Given the description of an element on the screen output the (x, y) to click on. 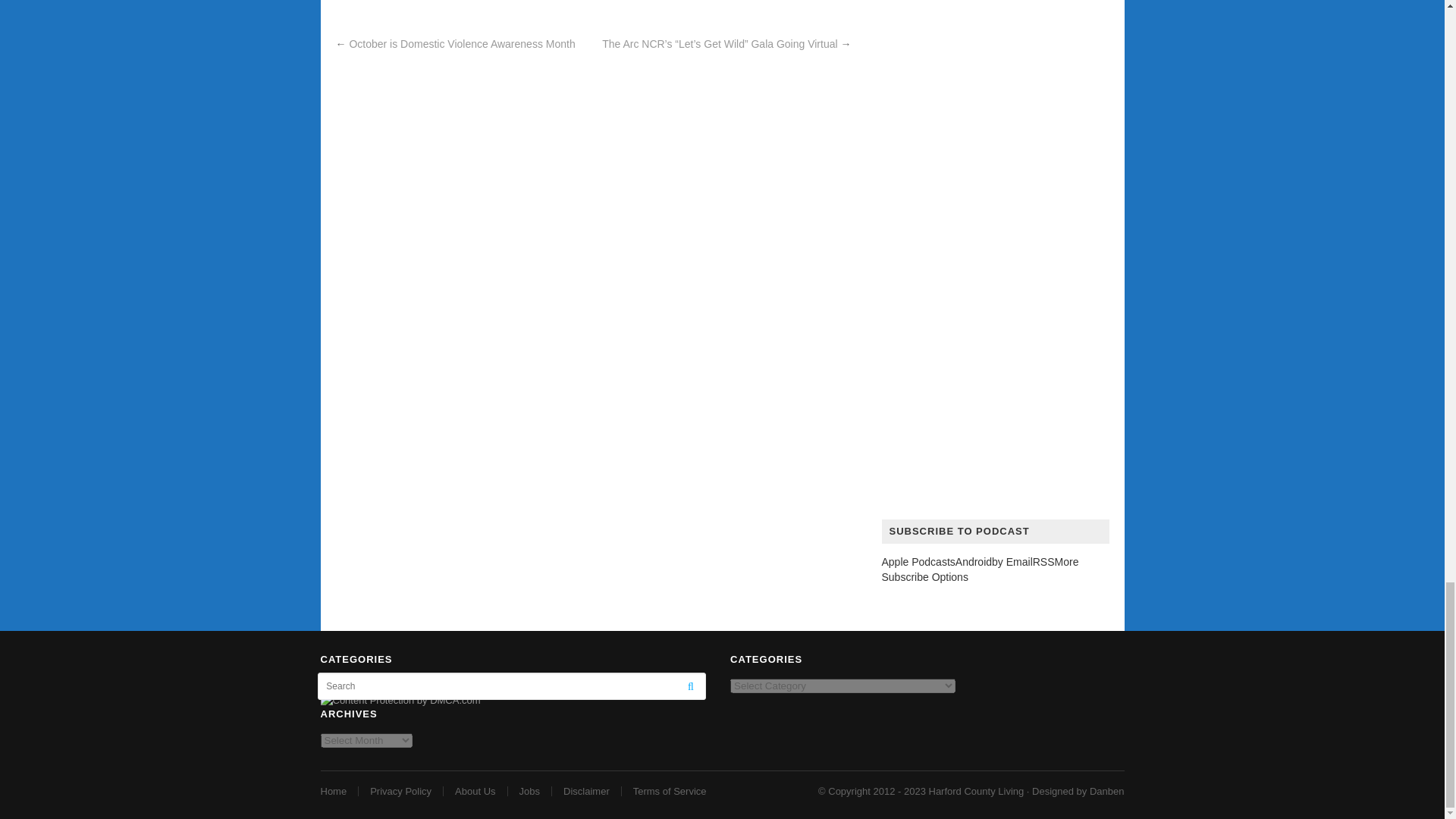
Subscribe by Email (1011, 562)
Subscribe via RSS (1043, 562)
Subscribe on Android (973, 562)
Subscribe on Apple Podcasts (917, 562)
More Subscribe Options (979, 569)
Content Protection by DMCA.com (400, 699)
